Given the description of an element on the screen output the (x, y) to click on. 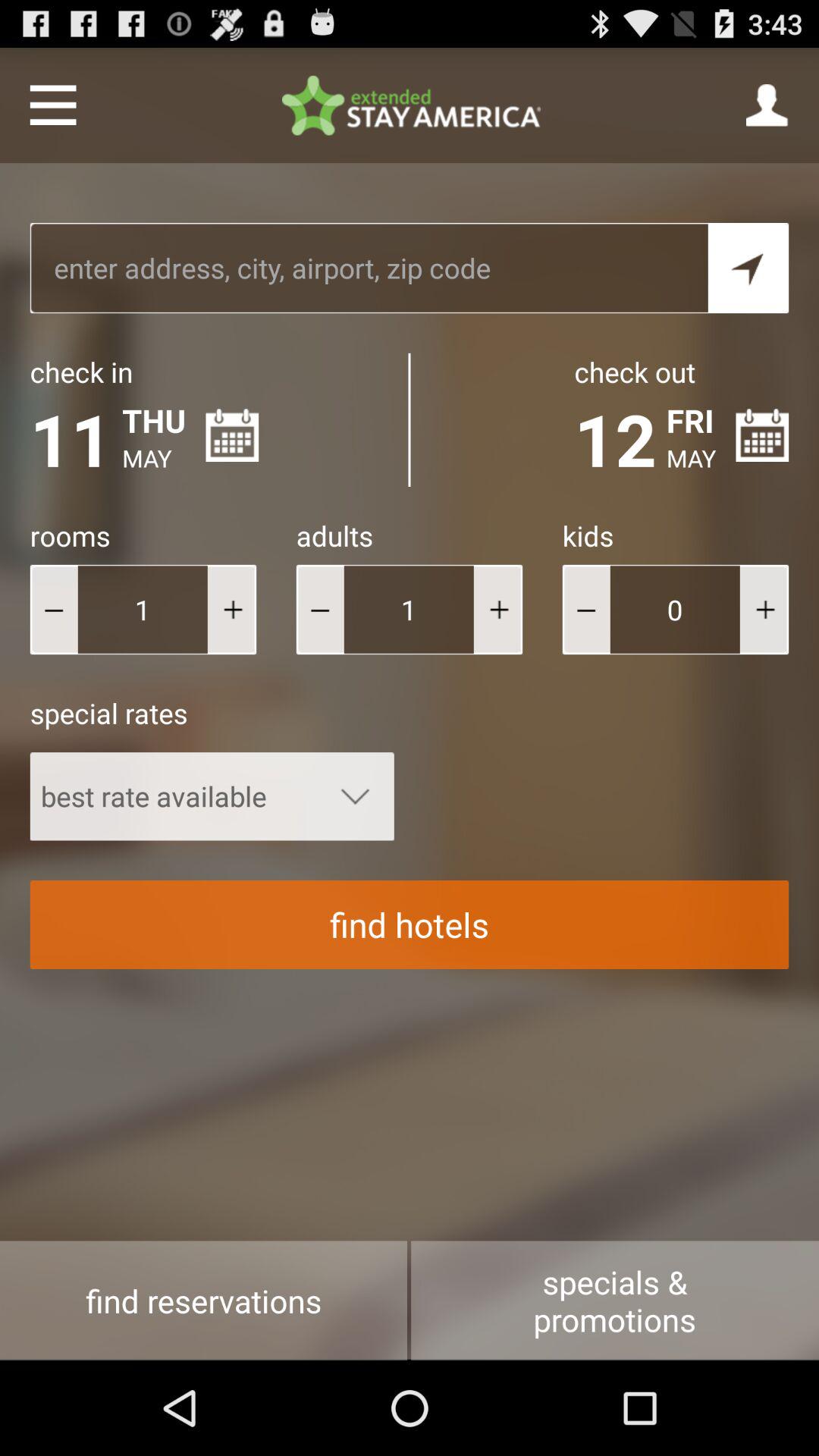
decrease amount of rooms (53, 609)
